Given the description of an element on the screen output the (x, y) to click on. 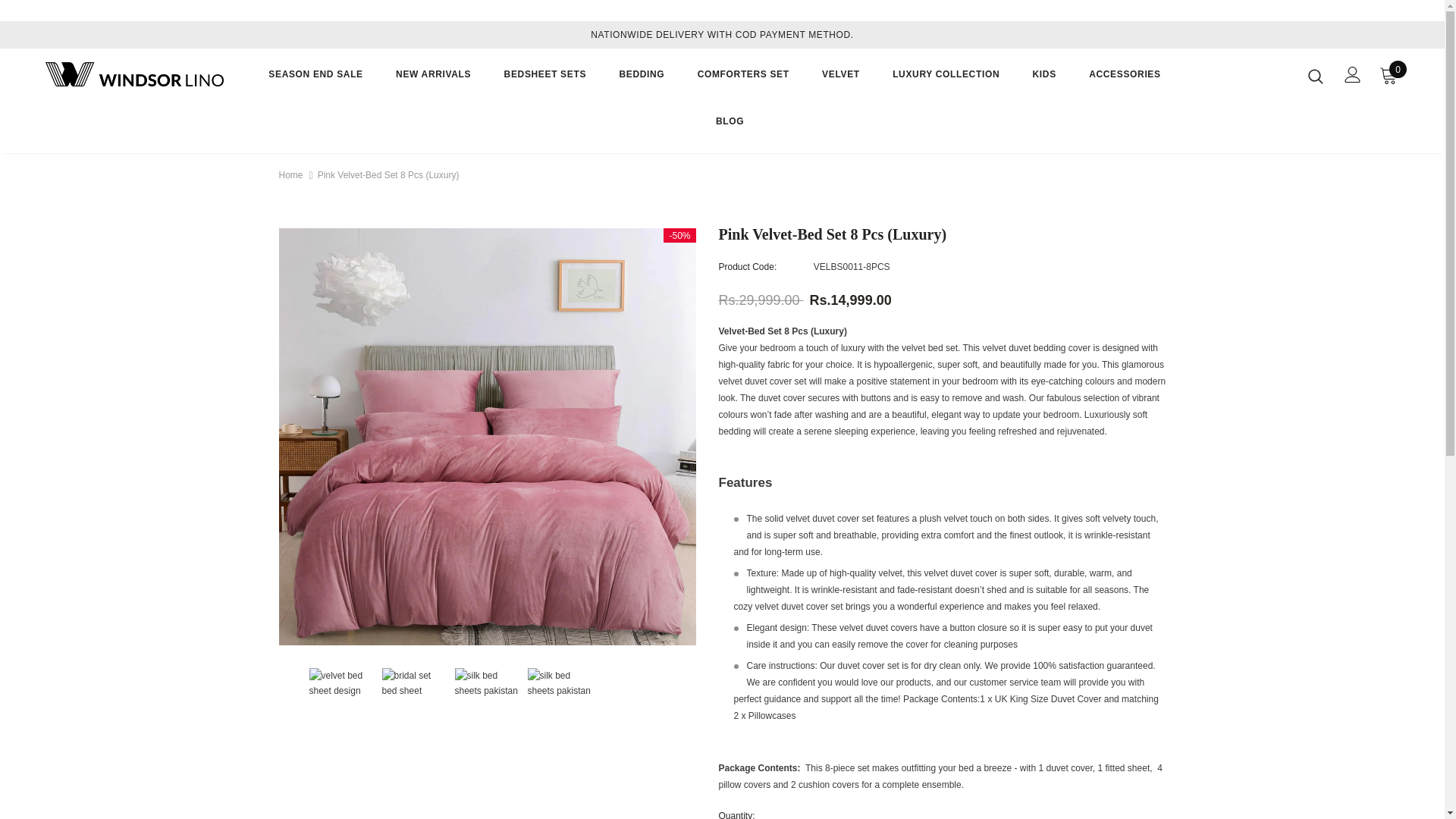
Logo (134, 74)
LUXURY COLLECTION (945, 82)
SEASON END SALE (314, 82)
Search Icon (1315, 75)
NEW ARRIVALS (433, 82)
BEDDING (640, 82)
COMFORTERS SET (743, 82)
BEDSHEET SETS (544, 82)
